Given the description of an element on the screen output the (x, y) to click on. 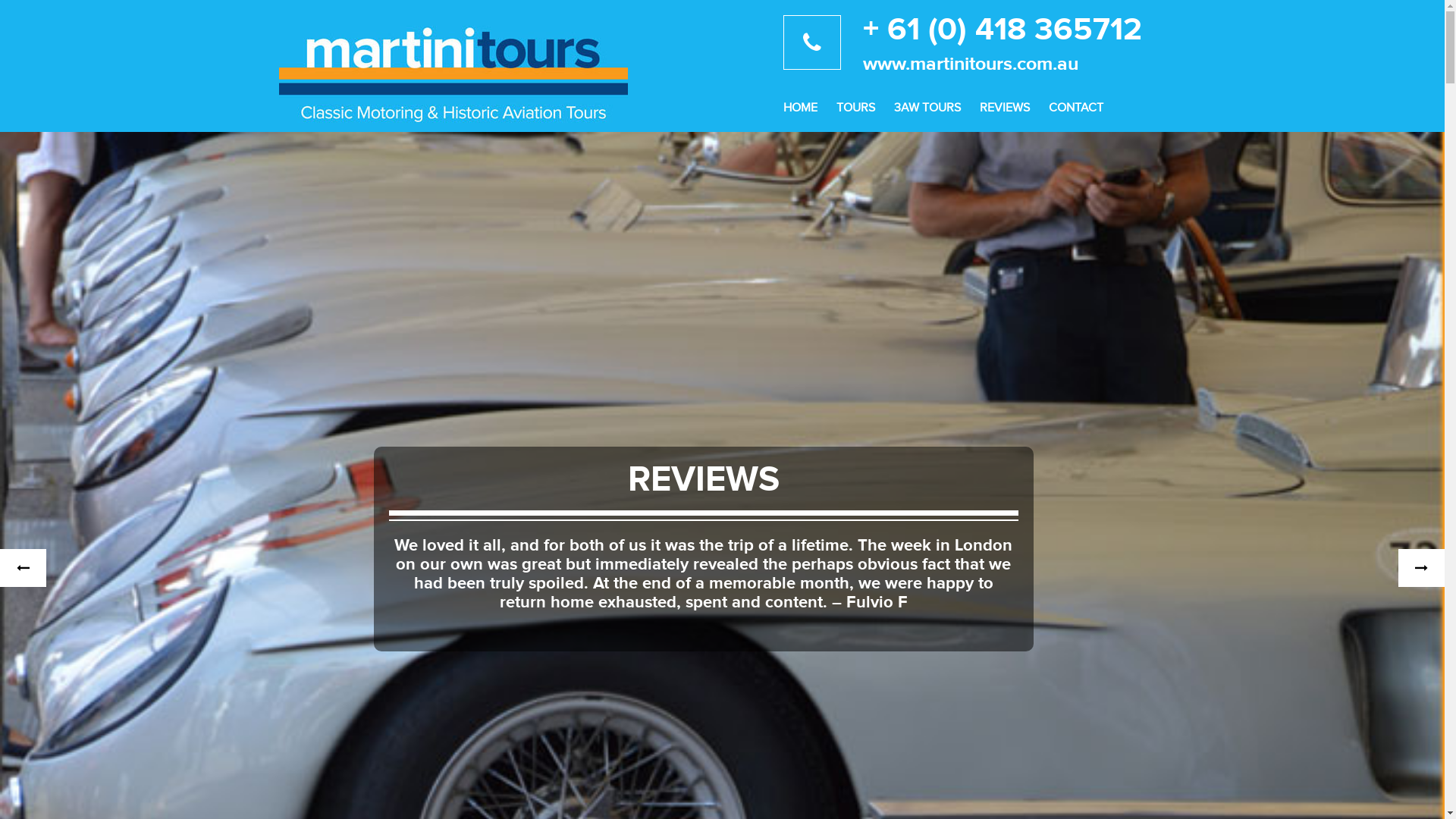
+ 61 (0) 418 365712 Element type: text (1014, 29)
3AW TOURS Element type: text (923, 113)
www.martinitours.com.au Element type: text (1014, 64)
TOURS Element type: text (851, 113)
CONTACT Element type: text (1072, 113)
REVIEWS Element type: text (999, 113)
HOME Element type: text (796, 113)
